Given the description of an element on the screen output the (x, y) to click on. 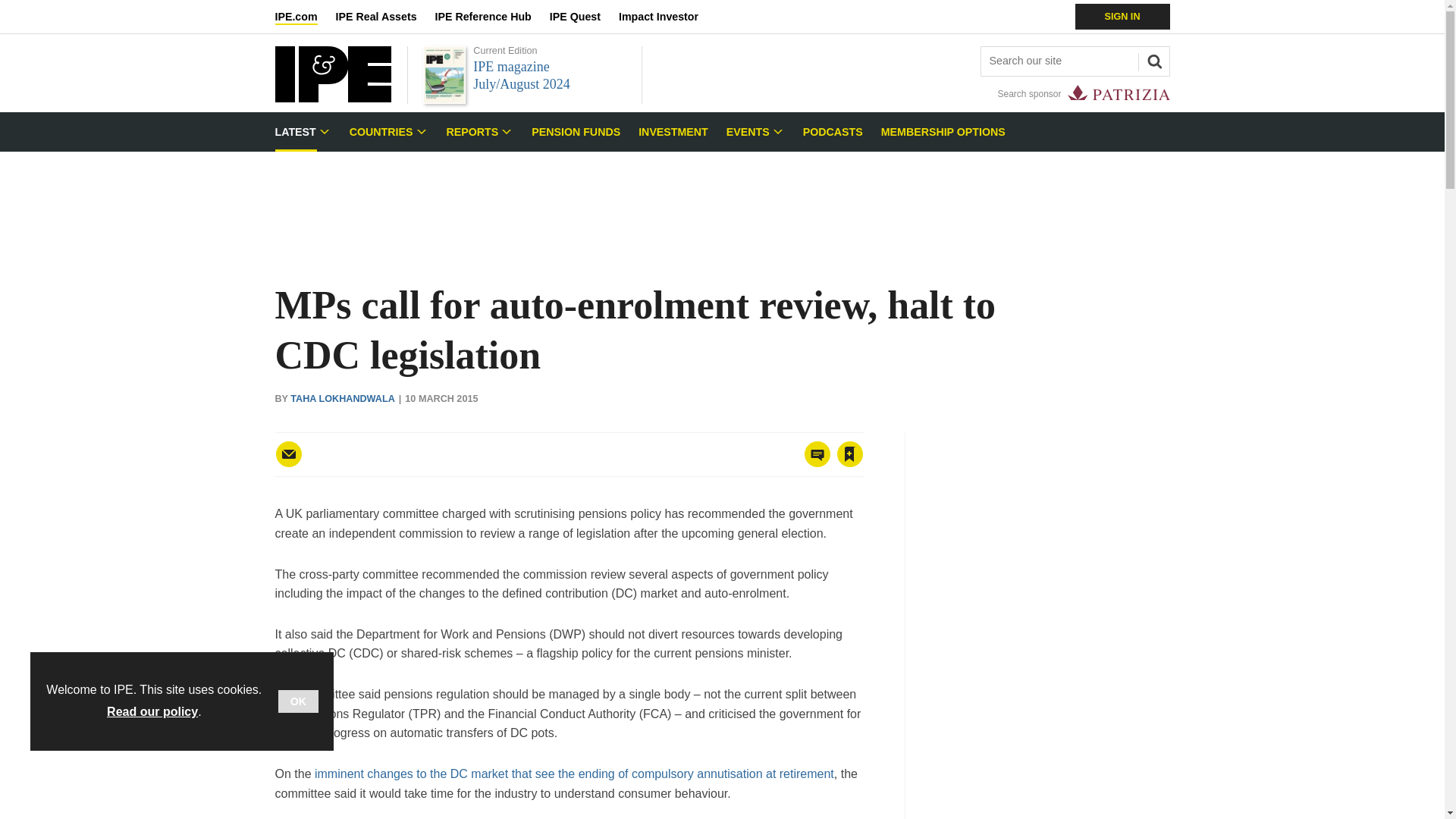
IPE Quest (583, 16)
Read our policy (152, 711)
IPE Real Assets (384, 16)
IPE Reference Hub (491, 16)
SIGN IN (1122, 16)
IPE Real Assets (384, 16)
SEARCH (1152, 59)
IPE Quest (583, 16)
IPE Reference Hub (491, 16)
OK (298, 701)
